Given the description of an element on the screen output the (x, y) to click on. 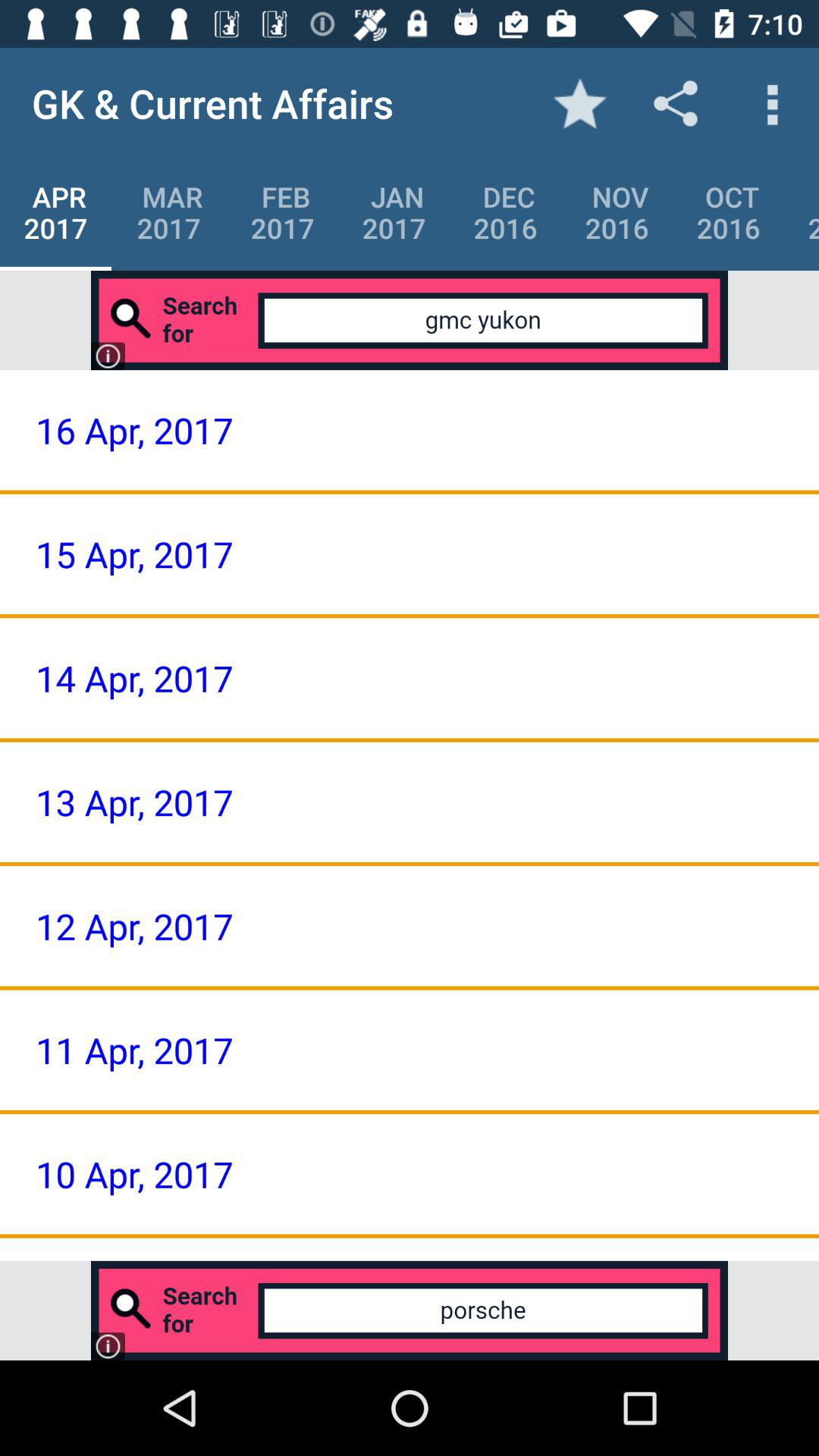
go to advertisement (409, 1310)
